Given the description of an element on the screen output the (x, y) to click on. 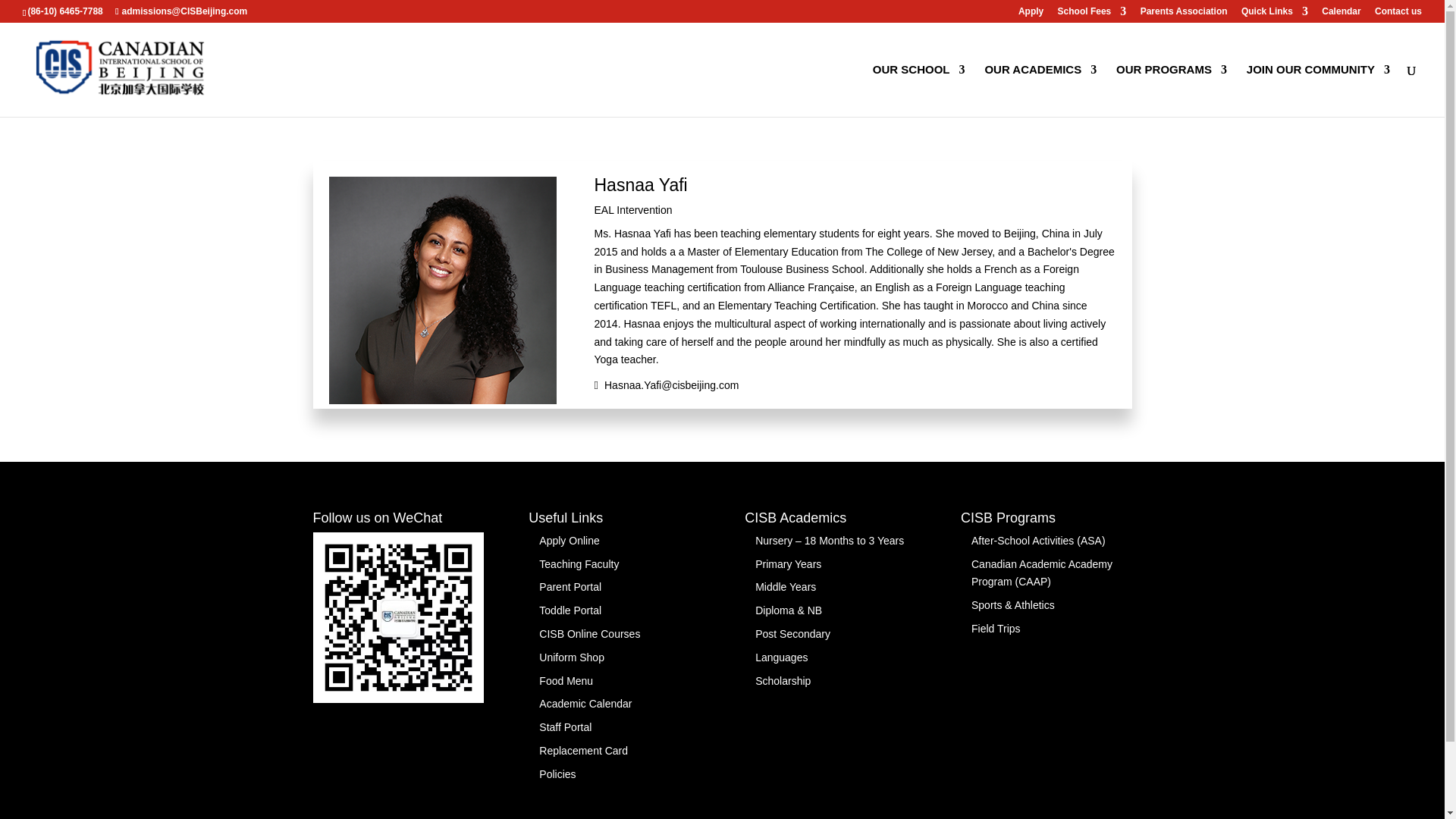
OUR SCHOOL (918, 90)
Apply (1030, 14)
OUR ACADEMICS (1040, 90)
Parents Association (1183, 14)
Contact us (1398, 14)
School Fees (1092, 14)
OUR PROGRAMS (1171, 90)
Quick Links (1274, 14)
Calendar (1340, 14)
